Given the description of an element on the screen output the (x, y) to click on. 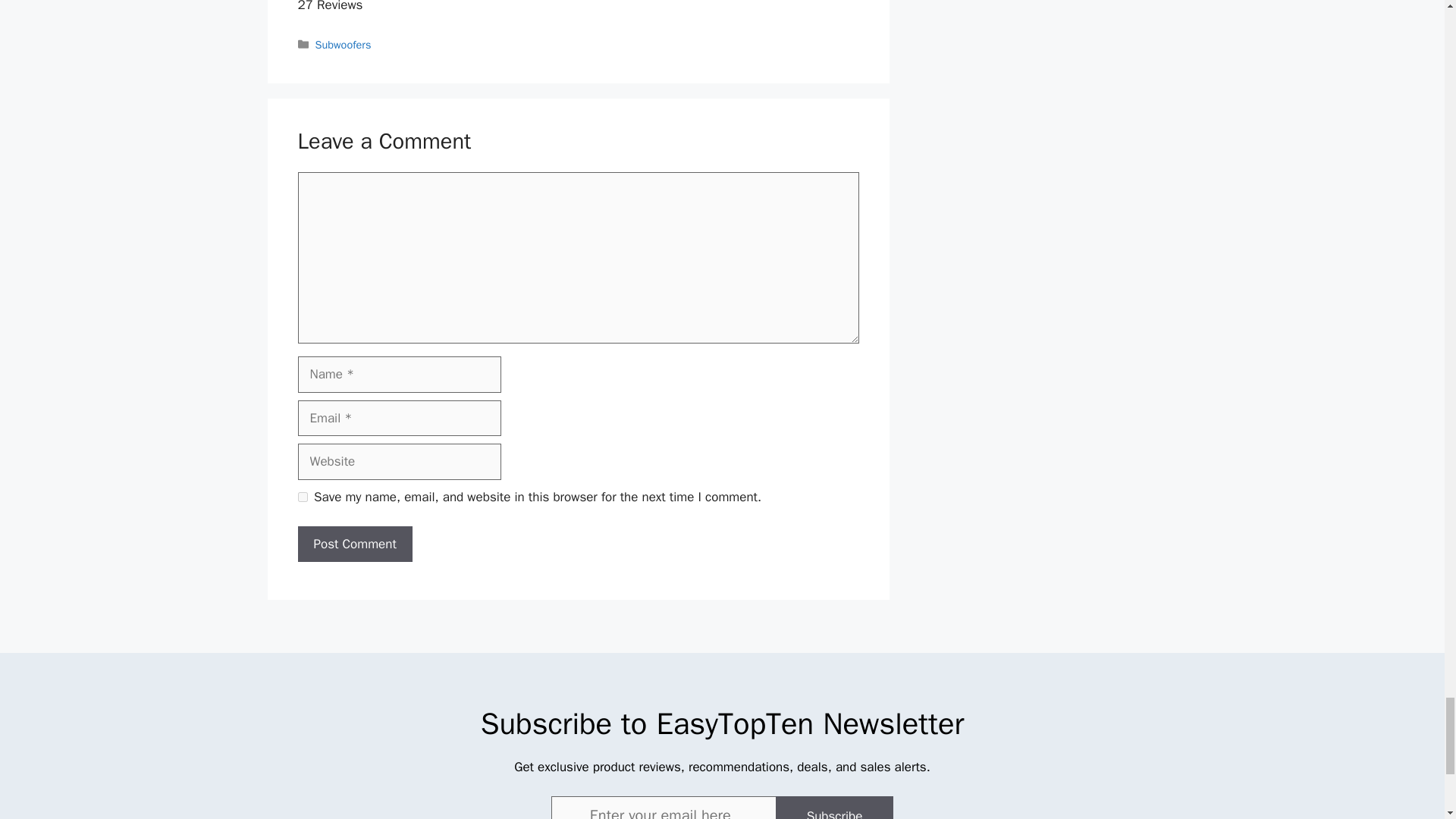
Subscribe (834, 807)
Subwoofers (343, 44)
Post Comment (354, 544)
Subscribe (834, 807)
Post Comment (354, 544)
yes (302, 497)
